Given the description of an element on the screen output the (x, y) to click on. 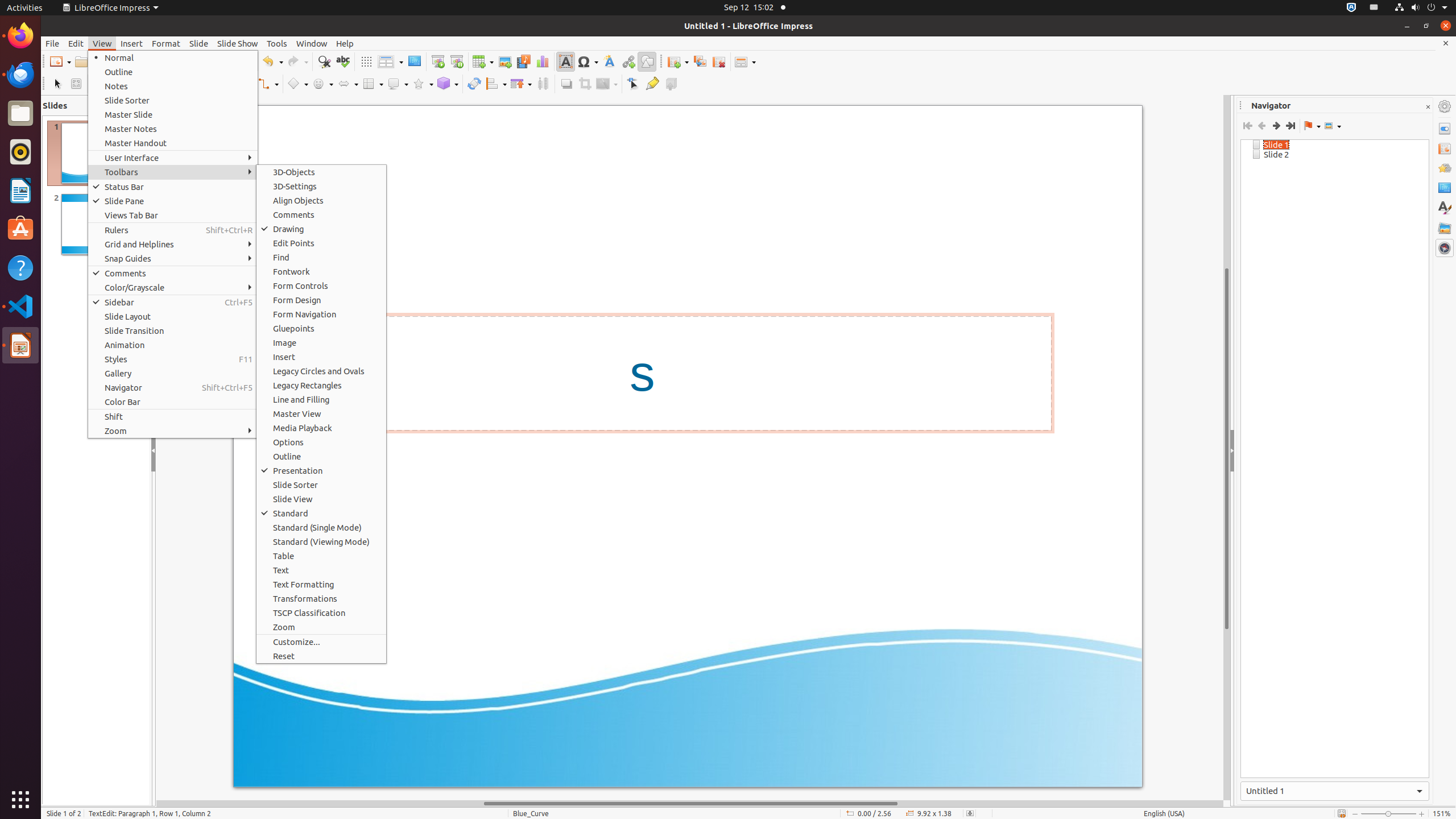
Status Bar Element type: check-menu-item (172, 186)
Snap Guides Element type: menu (172, 258)
Reset Element type: menu-item (321, 655)
Views Tab Bar Element type: check-menu-item (172, 215)
File Element type: menu (51, 43)
